Given the description of an element on the screen output the (x, y) to click on. 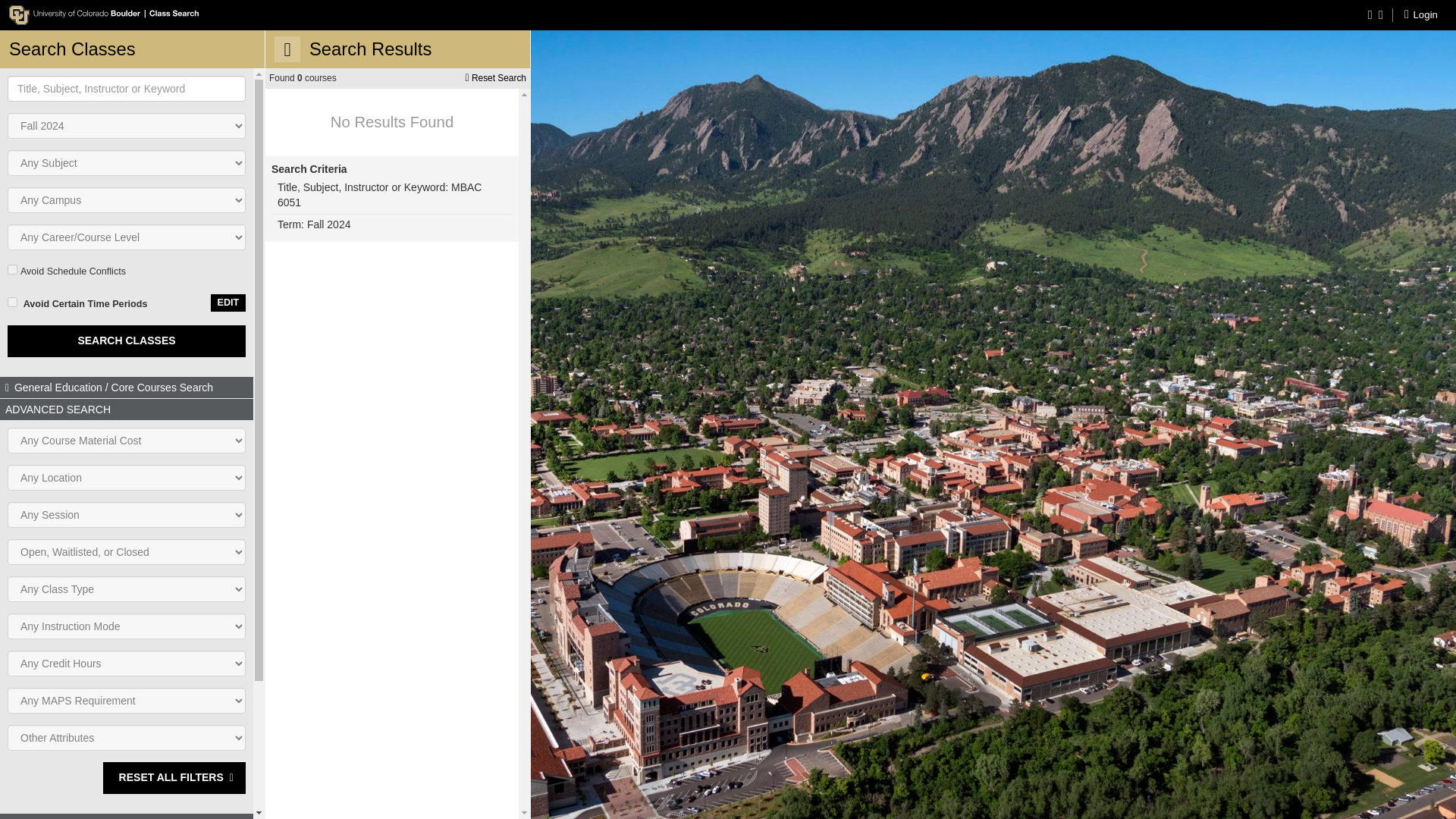
Help (1371, 14)
SEARCH CLASSES (126, 341)
Y (12, 269)
EDIT (228, 303)
Primary Cart (1380, 14)
RESET ALL FILTERS (174, 777)
Login (1421, 14)
Reset Search (495, 77)
